Given the description of an element on the screen output the (x, y) to click on. 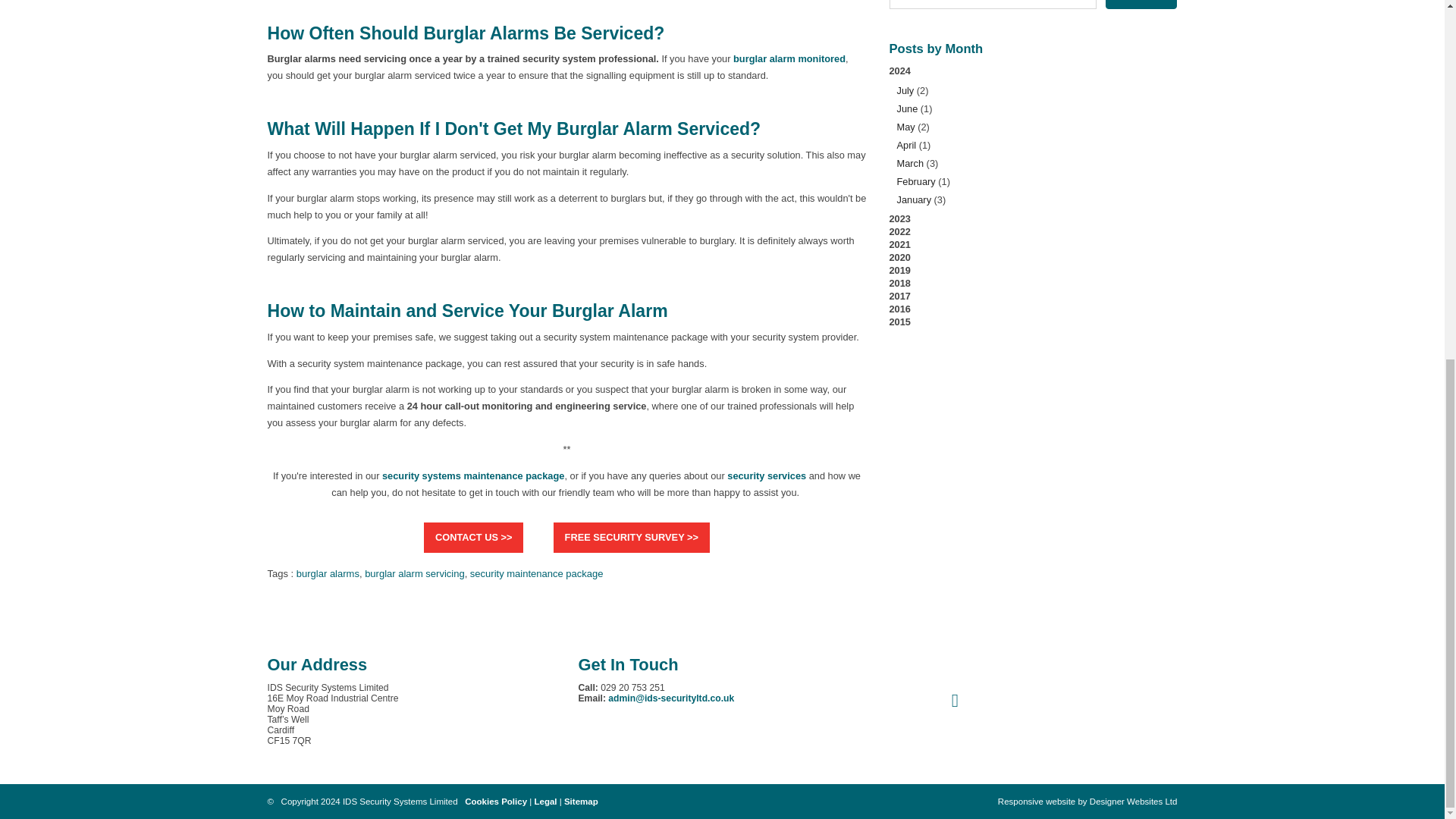
burglar alarms (328, 573)
burglar alarm servicing (414, 573)
Enter search term or APML url (992, 4)
security services (766, 475)
burglar alarm monitored (789, 58)
security maintenance package (537, 573)
Search (1141, 4)
security systems maintenance package (472, 475)
